Given the description of an element on the screen output the (x, y) to click on. 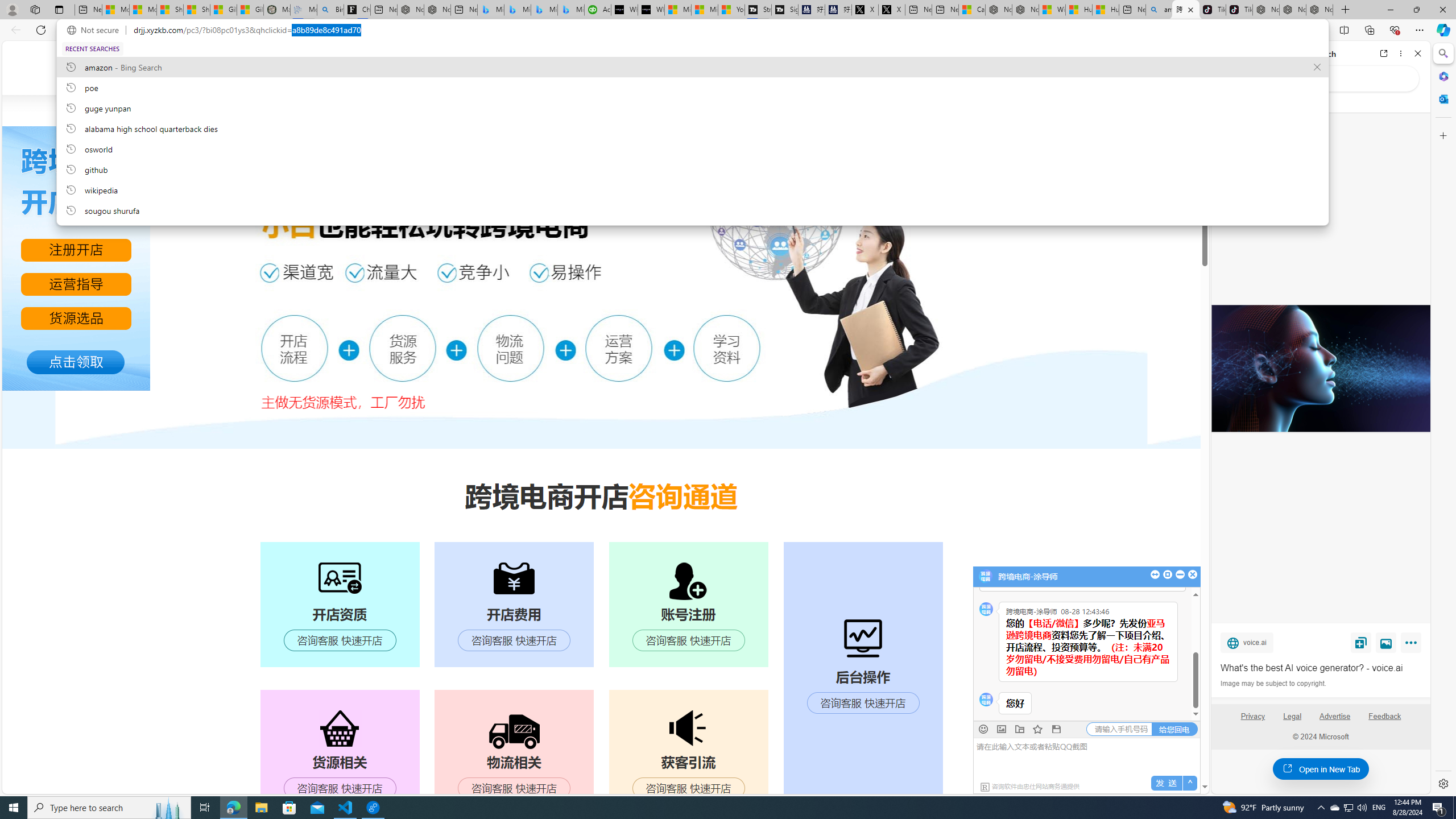
Open link in new tab (1383, 53)
Bing Real Estate - Home sales and rental listings (329, 9)
amazon, recent searches from history (691, 66)
Not secure (95, 29)
Nordace Siena Pro 15 Backpack (1292, 9)
